Given the description of an element on the screen output the (x, y) to click on. 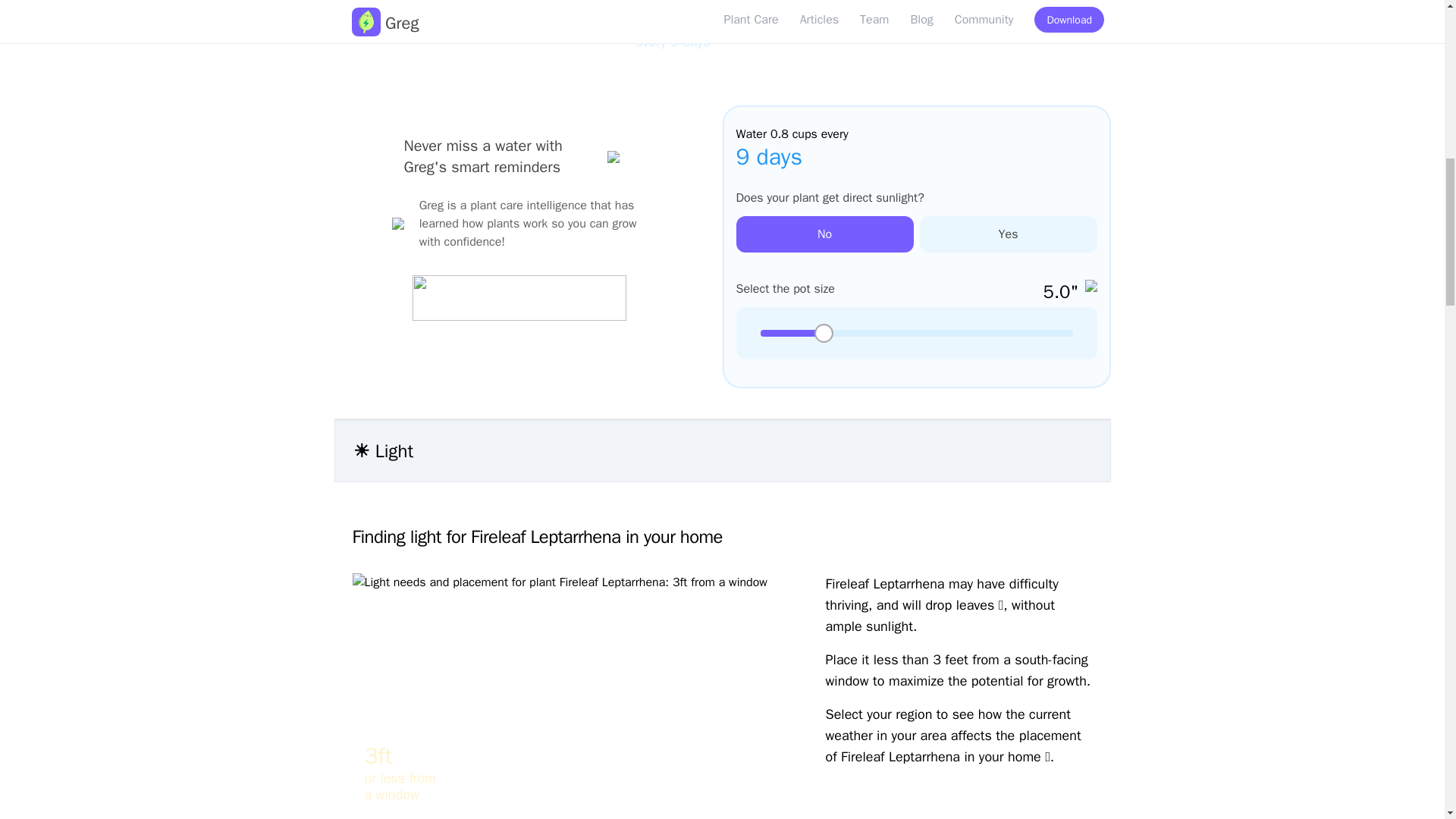
5 (915, 333)
Greg (1063, 6)
